Given the description of an element on the screen output the (x, y) to click on. 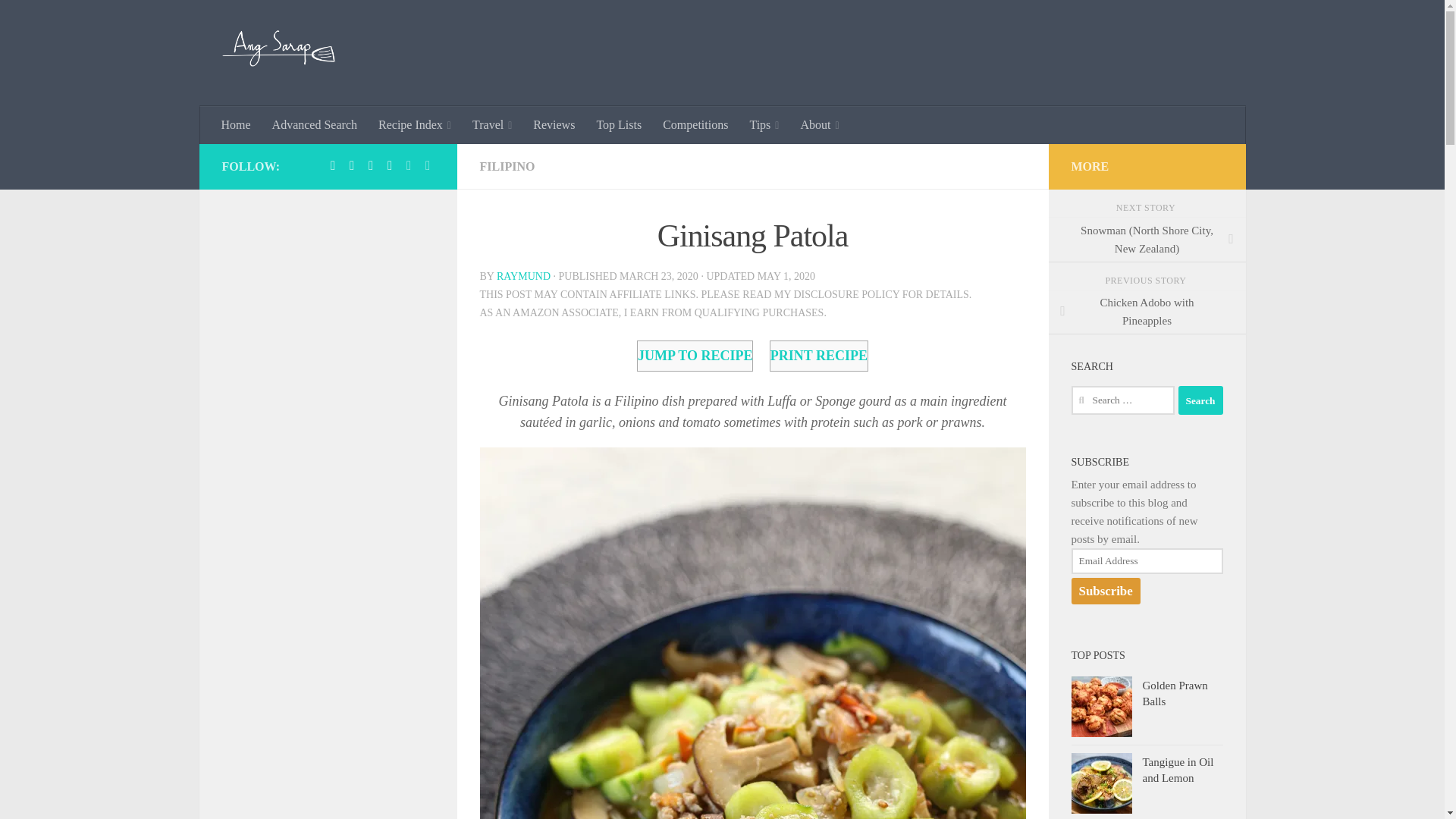
Instagram (390, 164)
Facebook (332, 164)
JUMP TO RECIPE (694, 355)
Follow us on Twitter (407, 164)
Recipe Index (414, 125)
Pinterest (352, 164)
Posts by Raymund (523, 276)
Follow us on Youtube (427, 164)
Tumblr (370, 164)
Advanced Search (315, 125)
Home (236, 125)
Search (1200, 399)
Skip to content (59, 20)
Search (1200, 399)
